Given the description of an element on the screen output the (x, y) to click on. 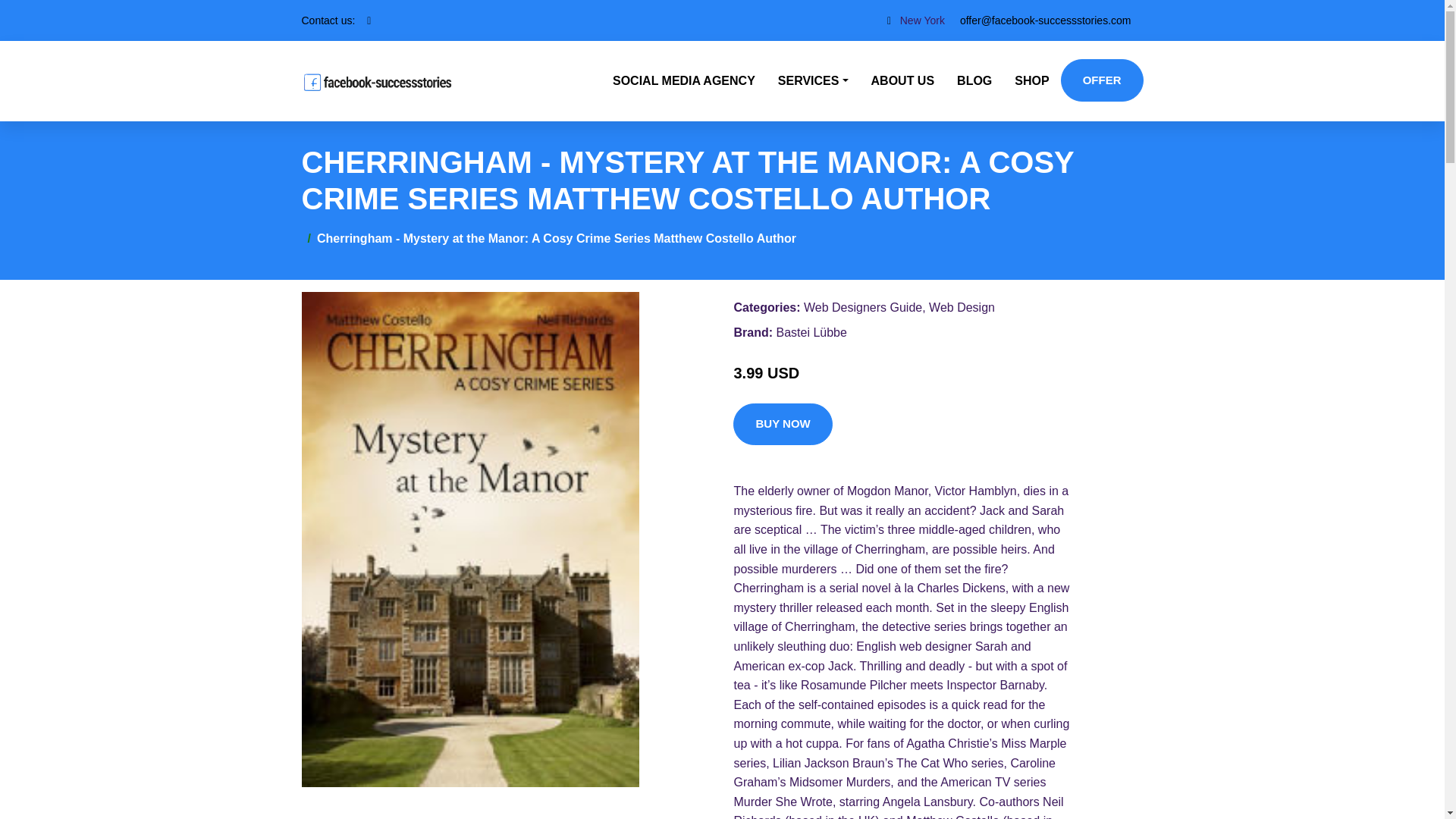
ABOUT US (903, 80)
BLOG (973, 80)
Web Designers Guide (862, 307)
OFFER (1101, 79)
SHOP (1031, 80)
Web Design (961, 307)
SOCIAL MEDIA AGENCY (684, 80)
SERVICES (813, 80)
New York (921, 20)
BUY NOW (782, 424)
